Given the description of an element on the screen output the (x, y) to click on. 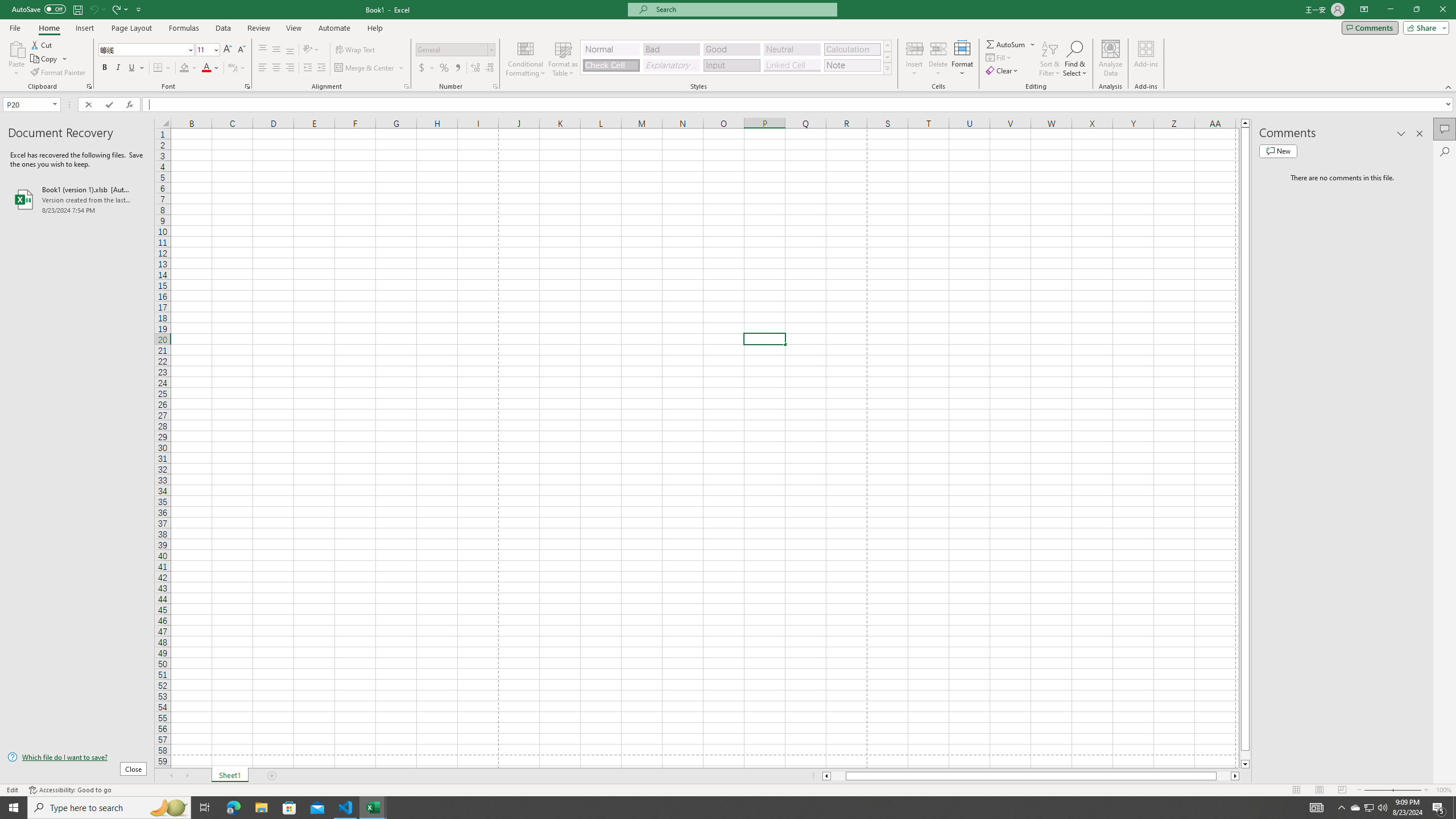
Percent Style (443, 67)
Bad (671, 49)
Analyze Data (1110, 58)
Increase Decimal (474, 67)
Paste (16, 58)
Clear (1003, 69)
Align Right (290, 67)
Fill Color (188, 67)
Copy (45, 58)
Fill (999, 56)
Open (54, 104)
Merge & Center (365, 67)
Copy (49, 58)
